Given the description of an element on the screen output the (x, y) to click on. 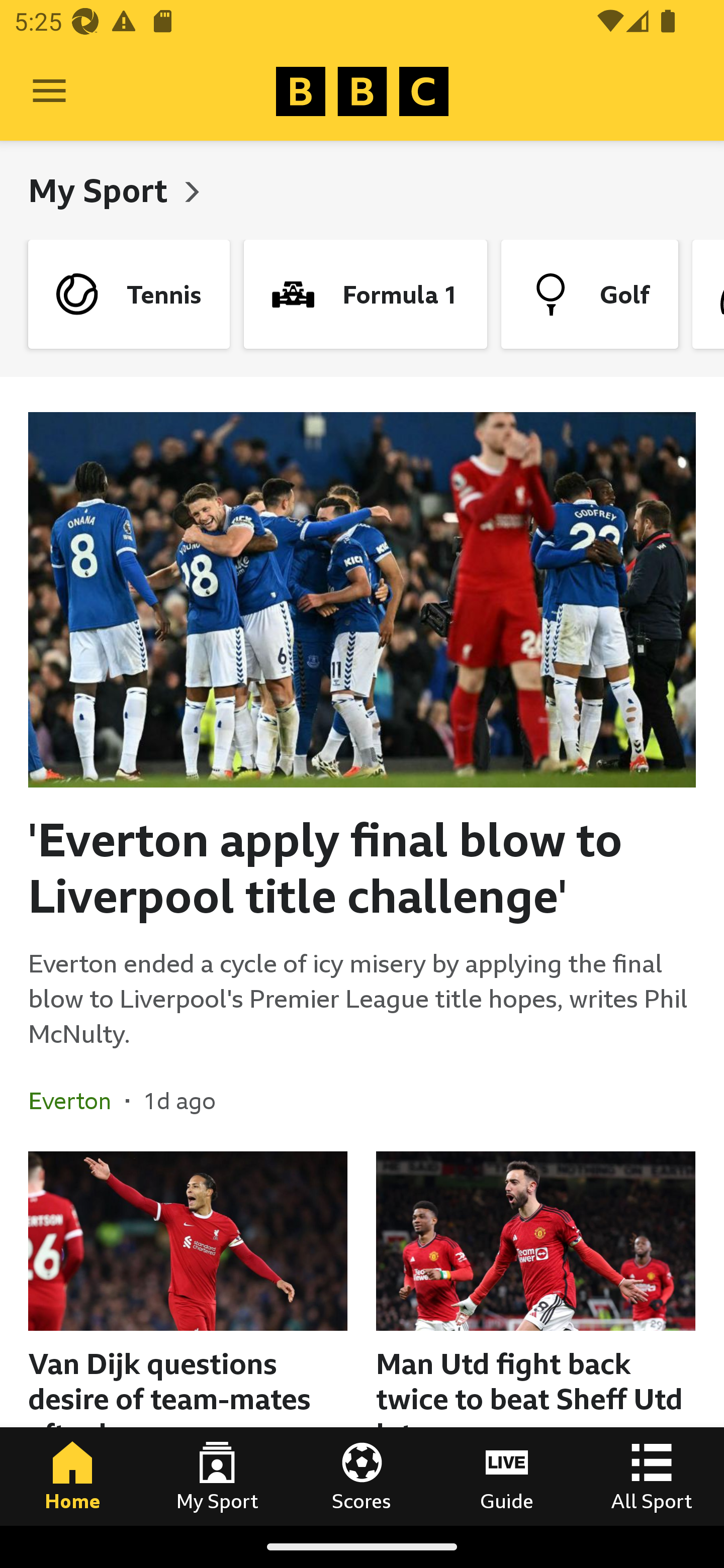
Open Menu (49, 91)
My Sport (101, 190)
Everton In the section Everton (76, 1100)
My Sport (216, 1475)
Scores (361, 1475)
Guide (506, 1475)
All Sport (651, 1475)
